Given the description of an element on the screen output the (x, y) to click on. 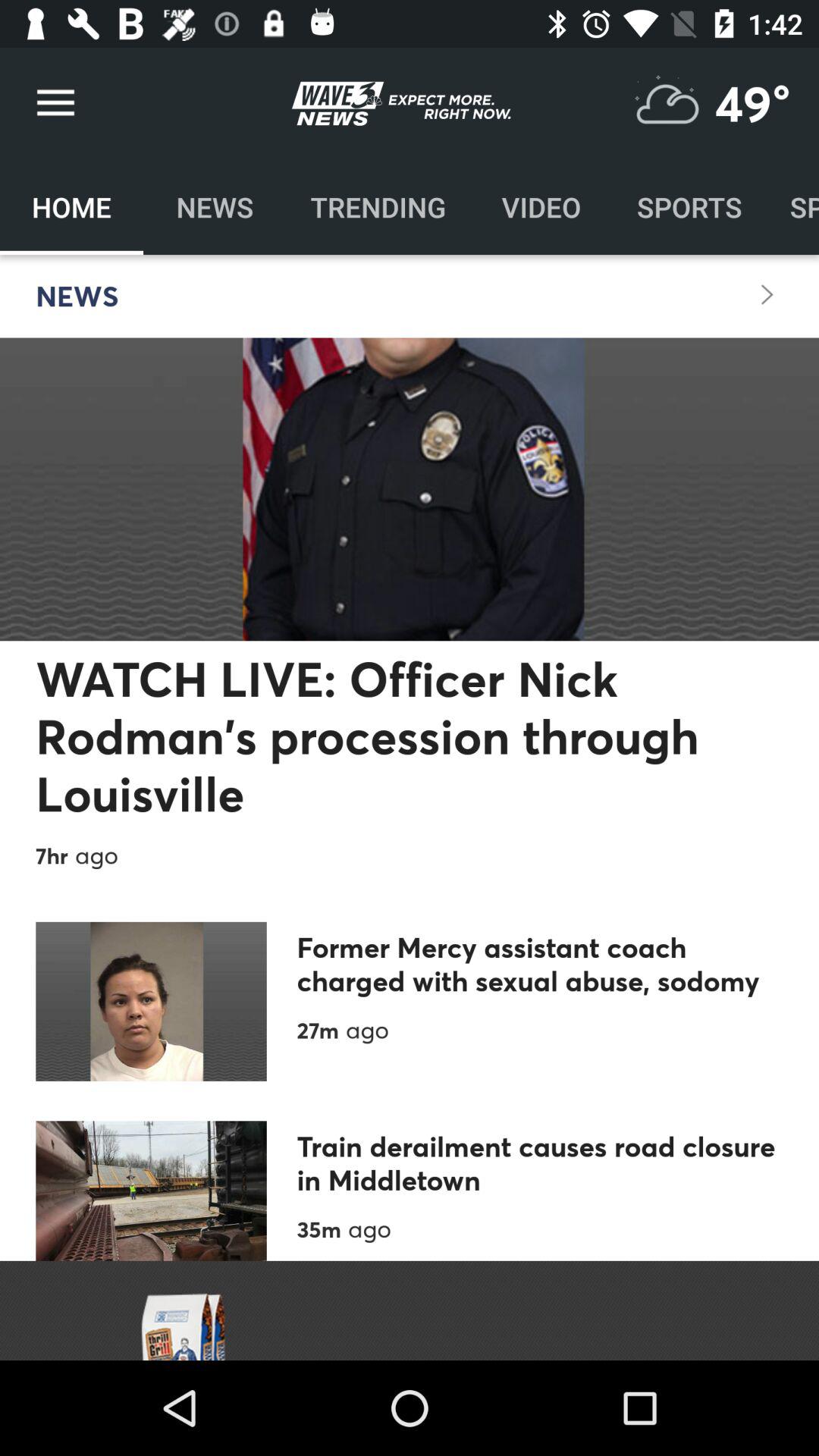
go to advertisements (409, 1310)
